Given the description of an element on the screen output the (x, y) to click on. 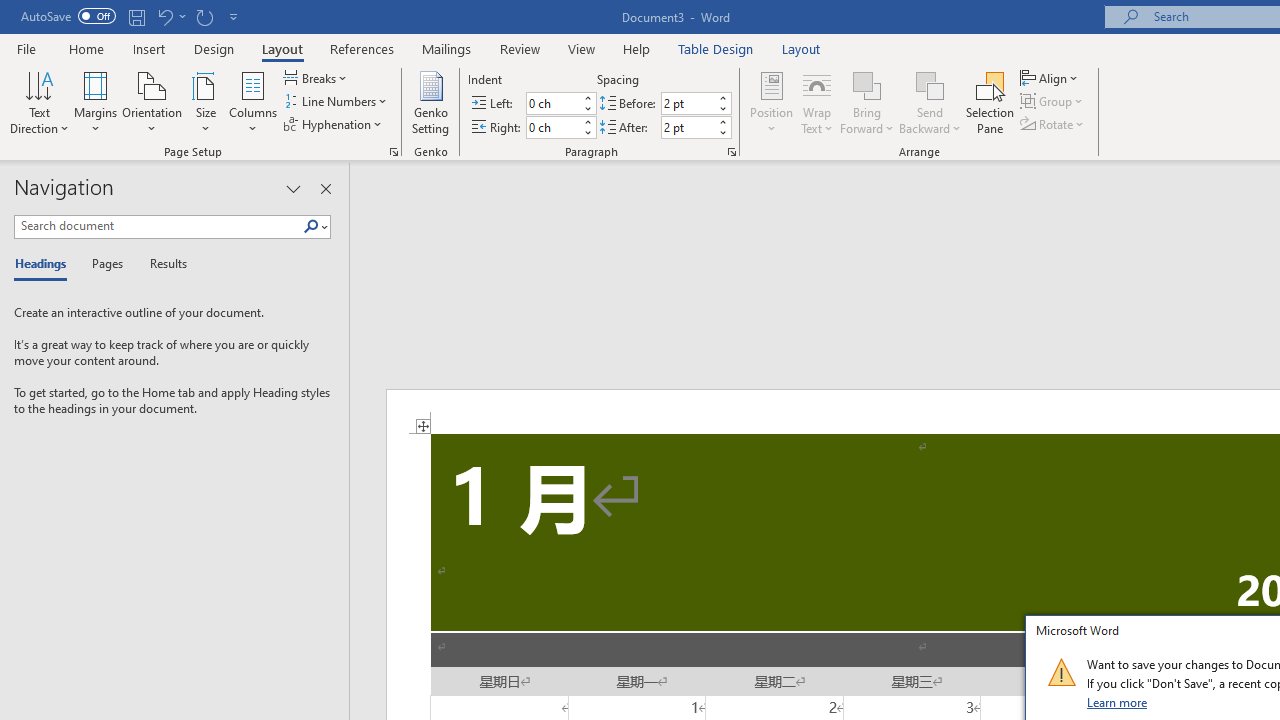
Customize Quick Access Toolbar (234, 15)
Task Pane Options (293, 188)
Class: NetUIImage (1061, 671)
Design (214, 48)
Quick Access Toolbar (131, 16)
More Options (930, 121)
Search (315, 227)
Spacing Before (687, 103)
Rotate (1053, 124)
More (722, 121)
Margins (95, 102)
Review (520, 48)
Group (1053, 101)
Bring Forward (867, 84)
Layout (801, 48)
